Given the description of an element on the screen output the (x, y) to click on. 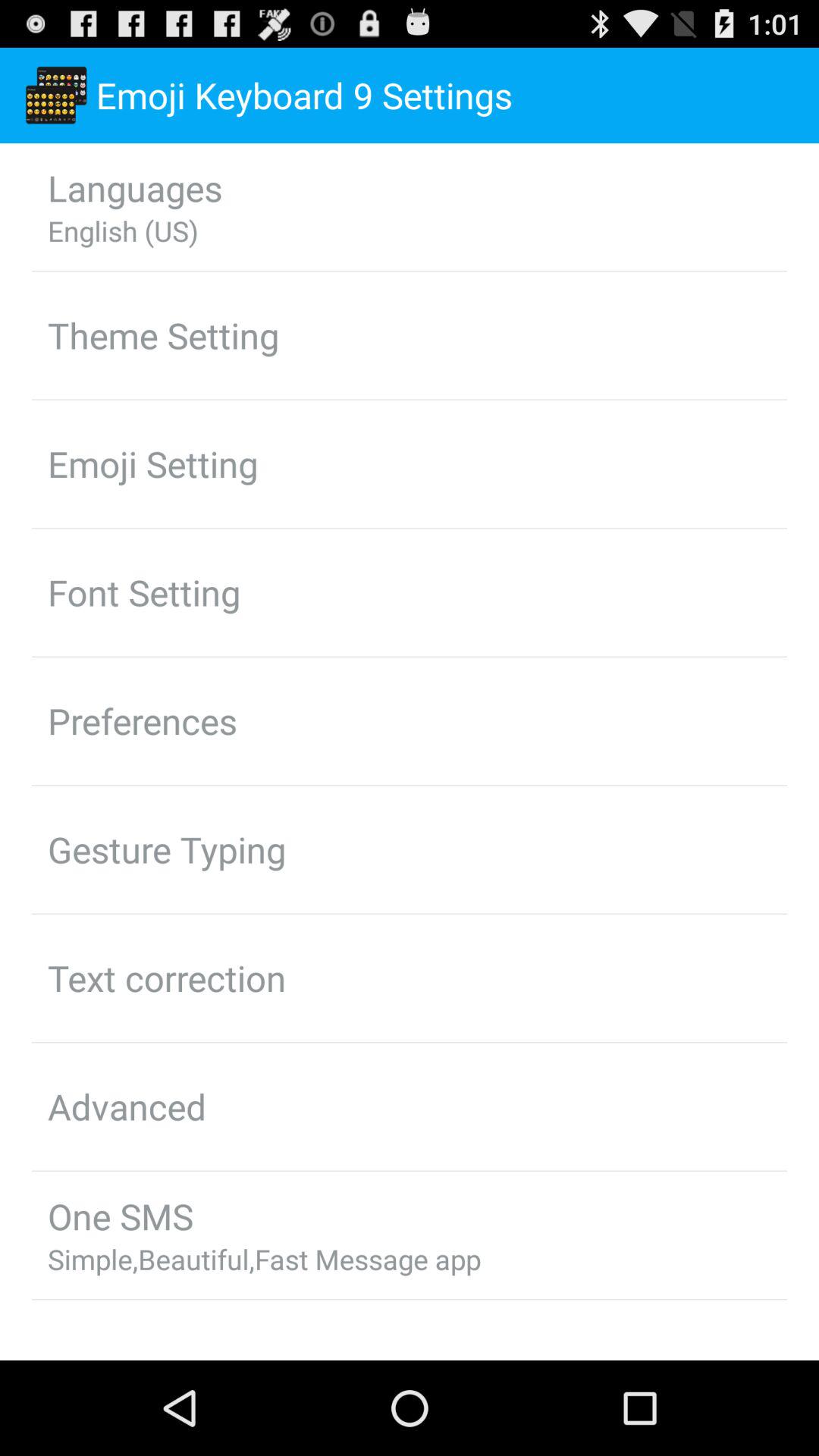
turn off the icon above the gesture typing app (142, 720)
